Given the description of an element on the screen output the (x, y) to click on. 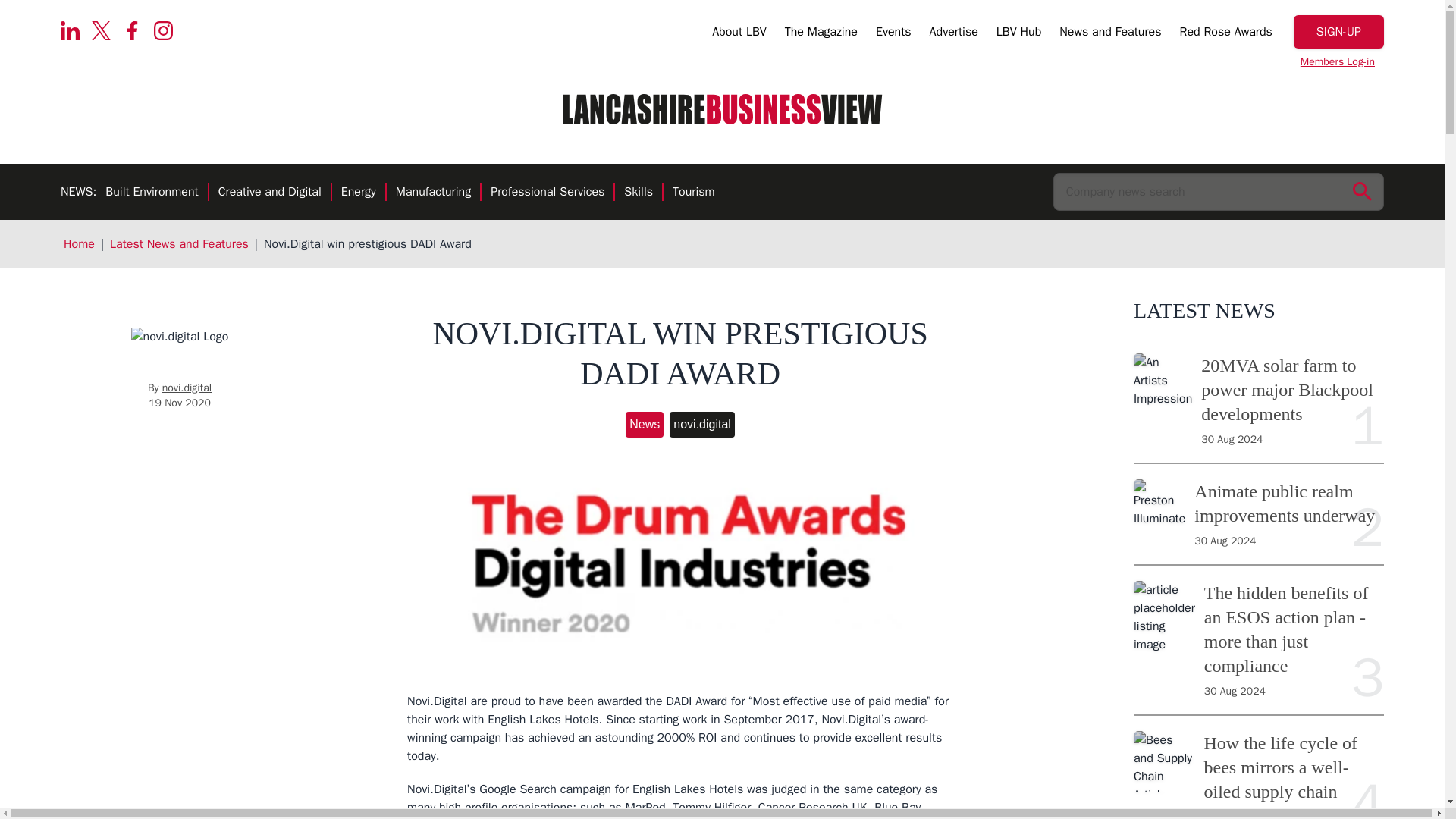
Red Rose Awards (1225, 34)
Professional Services (547, 192)
Tourism (693, 192)
About LBV (739, 34)
SIGN-UP (1339, 31)
Advertise (954, 34)
News and Features (1109, 34)
Events (893, 34)
Skills (638, 192)
LBV Hub (1018, 34)
